Given the description of an element on the screen output the (x, y) to click on. 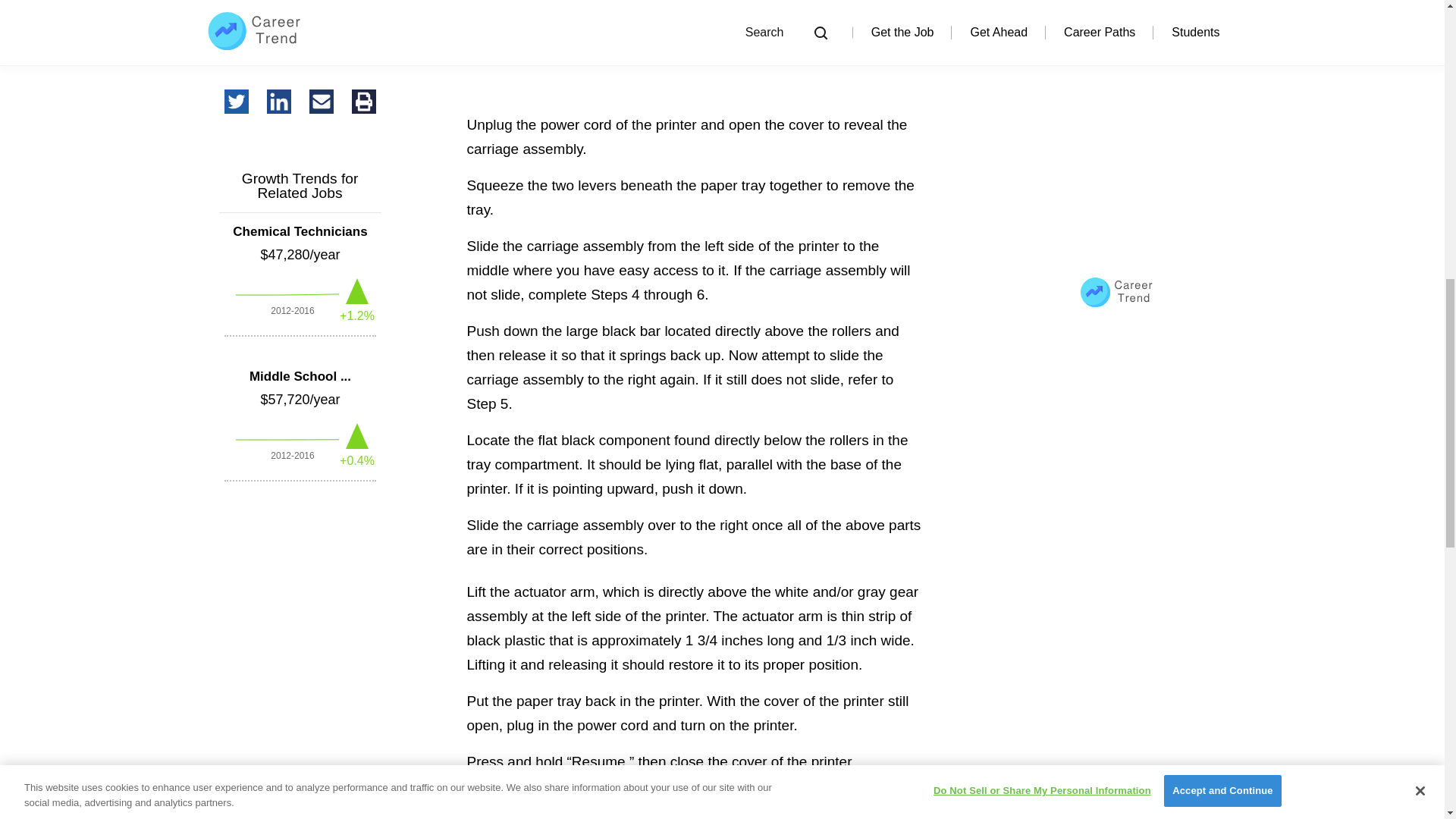
Advertisement (693, 53)
